Given the description of an element on the screen output the (x, y) to click on. 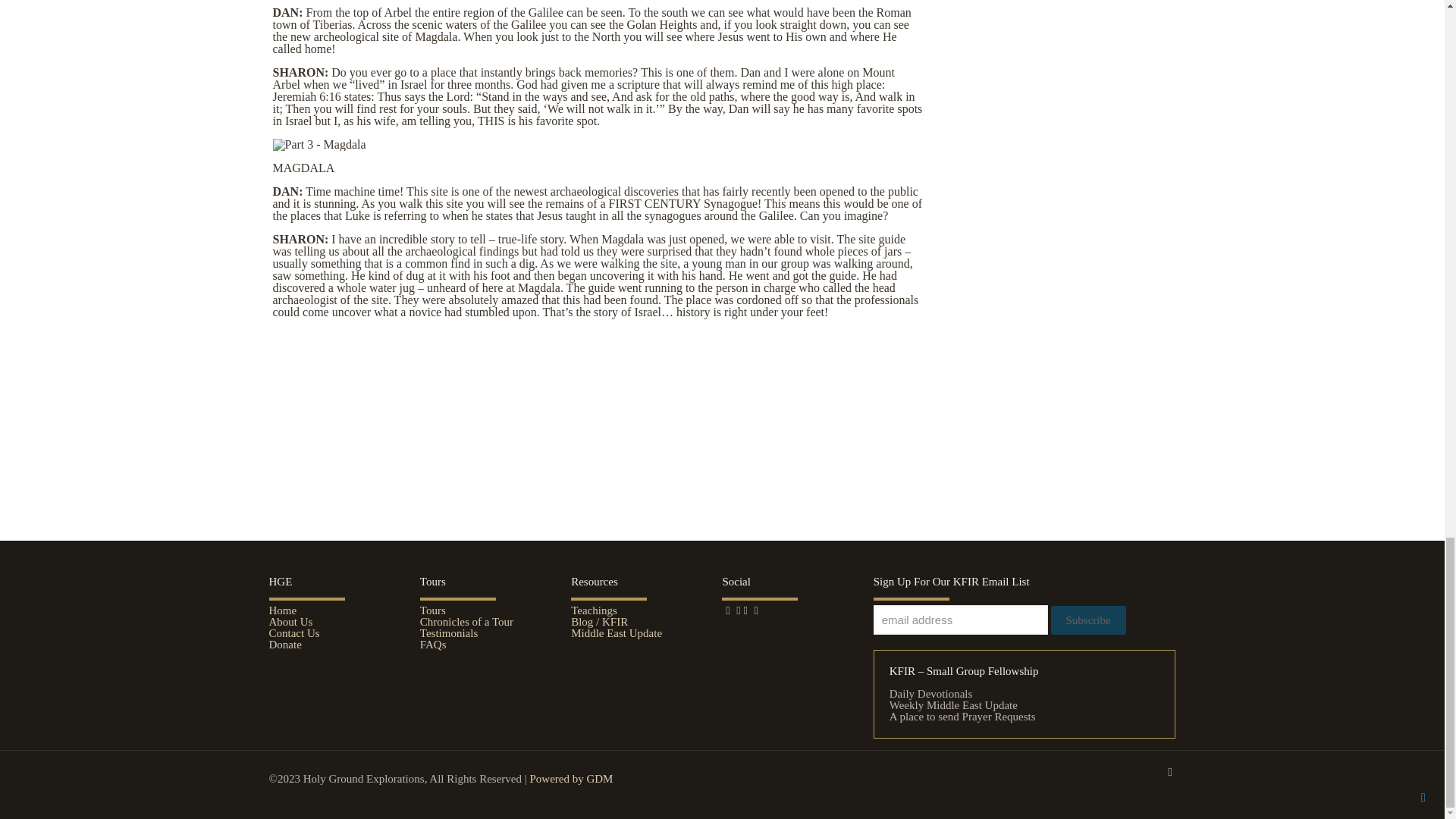
Home (282, 610)
Donate (284, 644)
Subscribe (1088, 620)
Contact Us (292, 633)
About Us (290, 621)
